Given the description of an element on the screen output the (x, y) to click on. 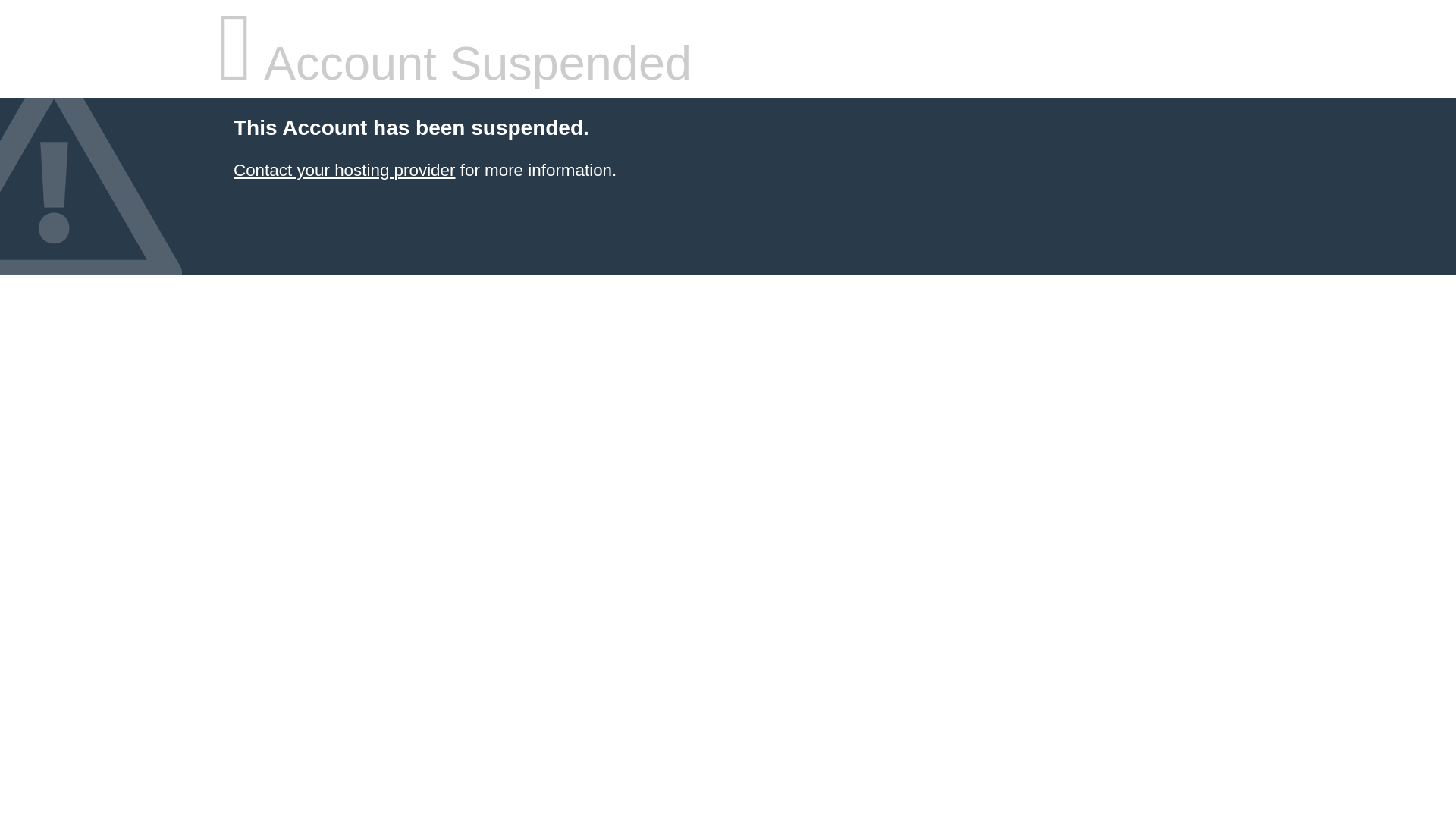
Contact your hosting provider (343, 169)
